Given the description of an element on the screen output the (x, y) to click on. 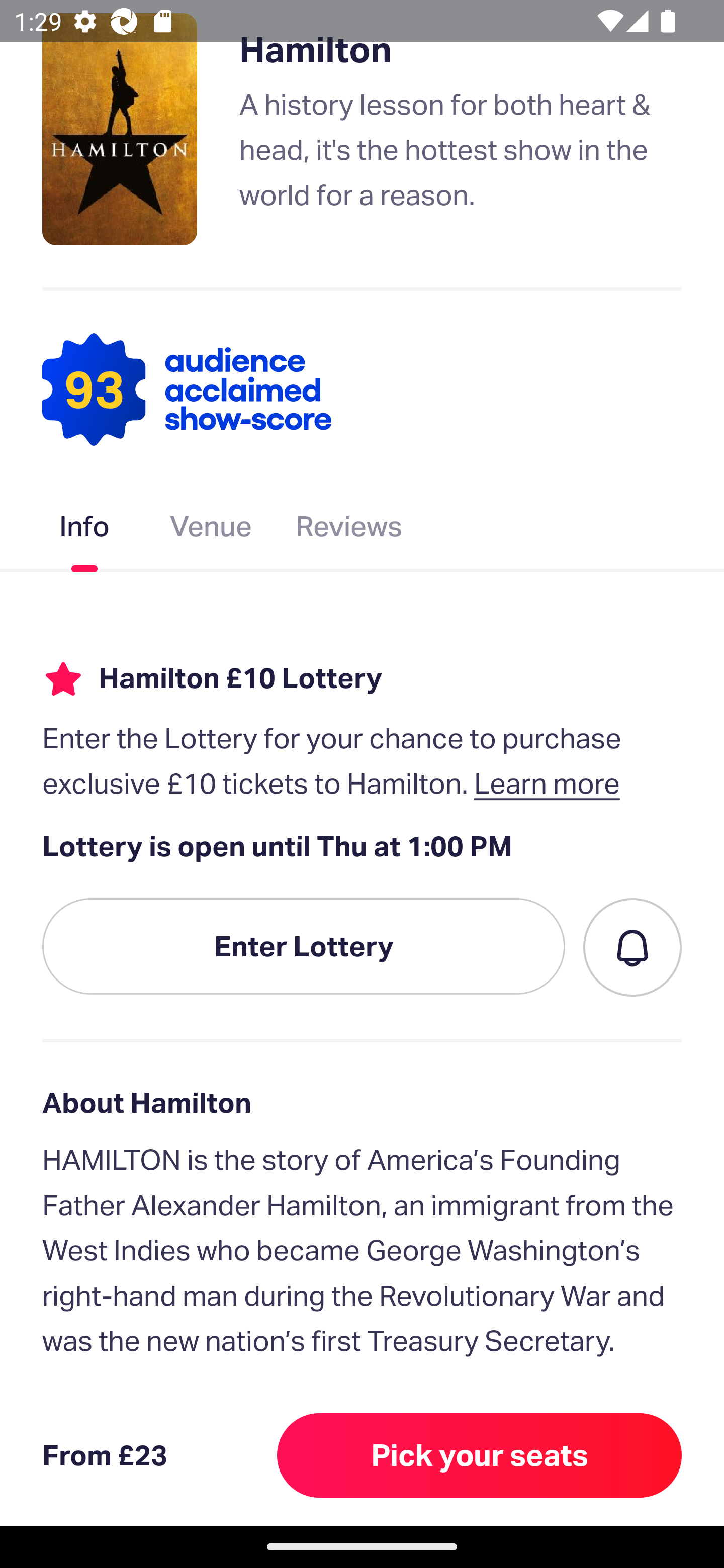
Venue (210, 529)
Reviews (348, 529)
Enter Lottery (303, 946)
About Hamilton (361, 1103)
Pick your seats (479, 1454)
